Given the description of an element on the screen output the (x, y) to click on. 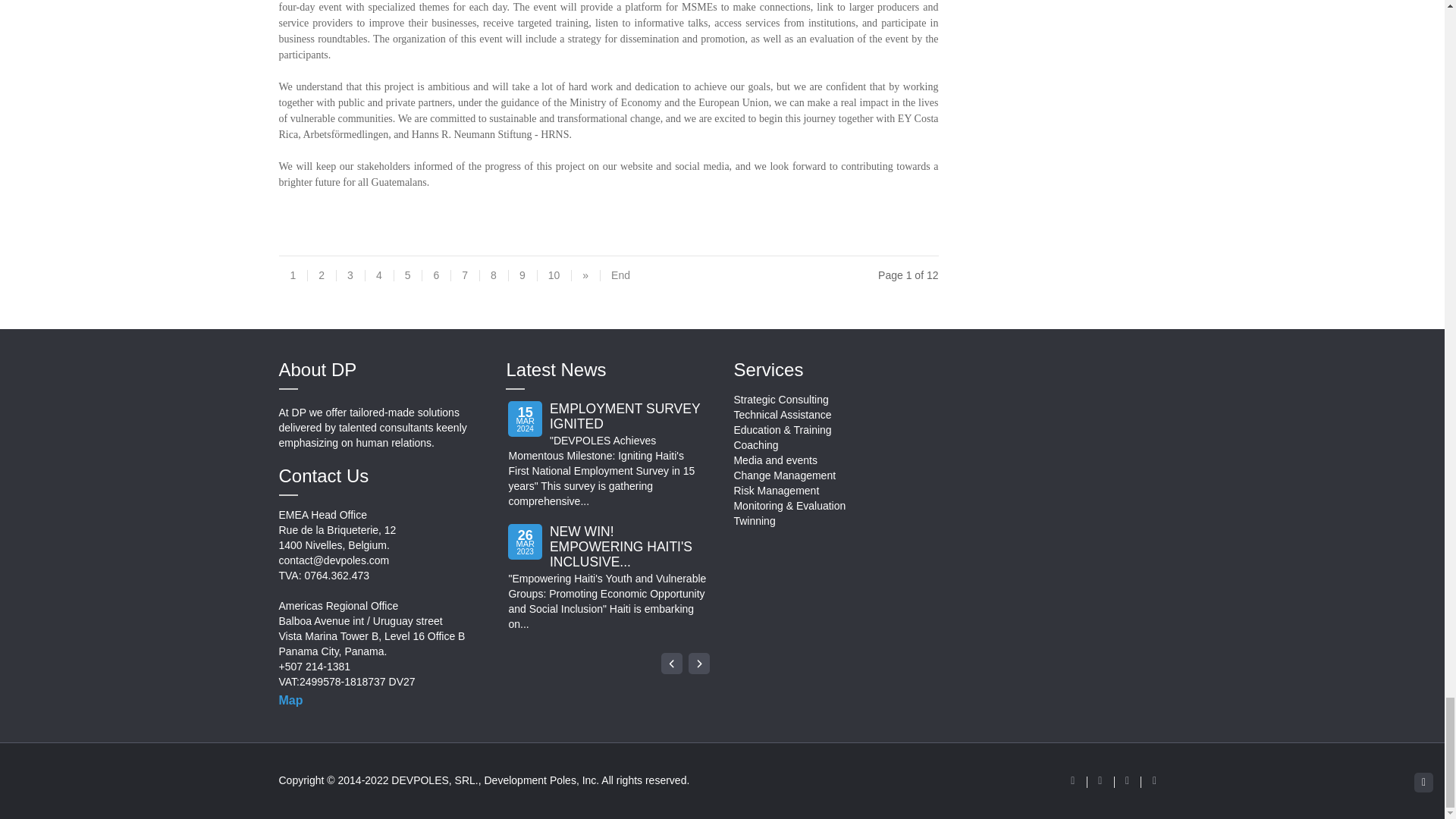
7 (464, 280)
8 (493, 280)
10 (554, 280)
9 (522, 280)
3 (350, 280)
2 (321, 280)
5 (407, 280)
4 (379, 280)
6 (435, 280)
End (620, 280)
